Given the description of an element on the screen output the (x, y) to click on. 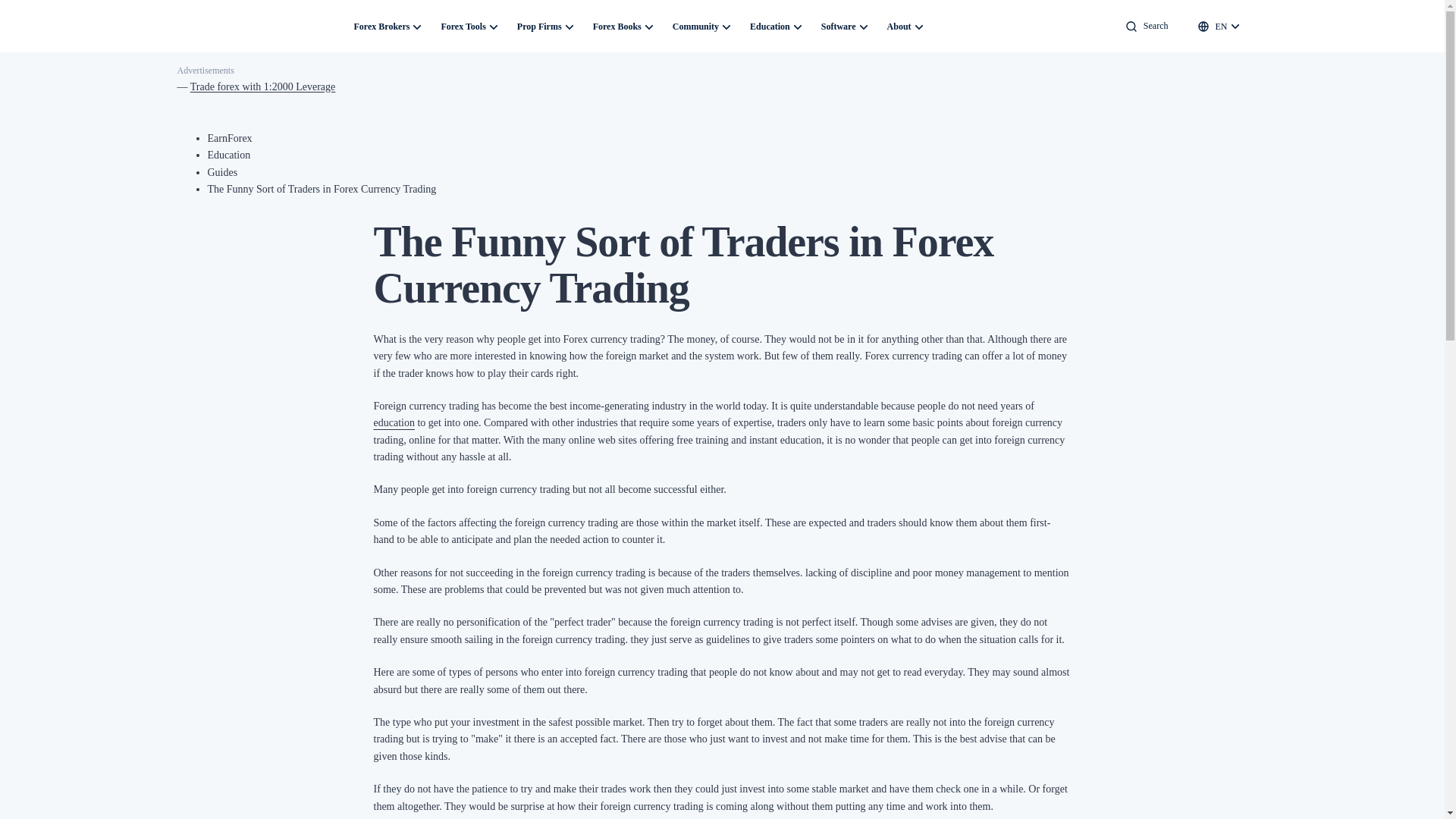
Software (838, 25)
Guides (223, 172)
education (392, 422)
Forex Tools (462, 25)
The Funny Sort of Traders in Forex Currency Trading (322, 188)
Education (229, 154)
Prop Firms (539, 25)
About (899, 25)
Education (770, 25)
Education (229, 154)
